Given the description of an element on the screen output the (x, y) to click on. 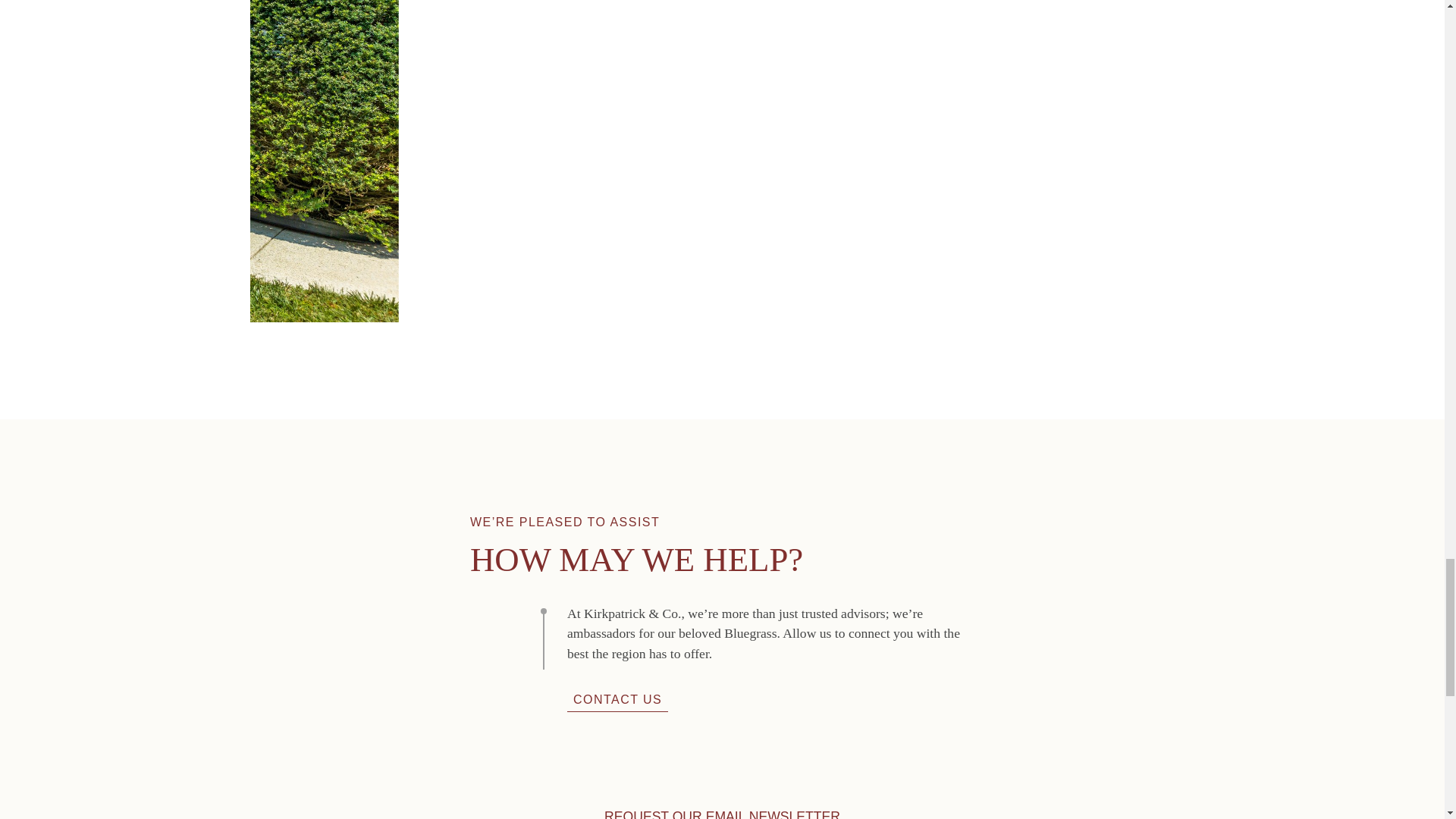
CONTACT US (617, 699)
